Given the description of an element on the screen output the (x, y) to click on. 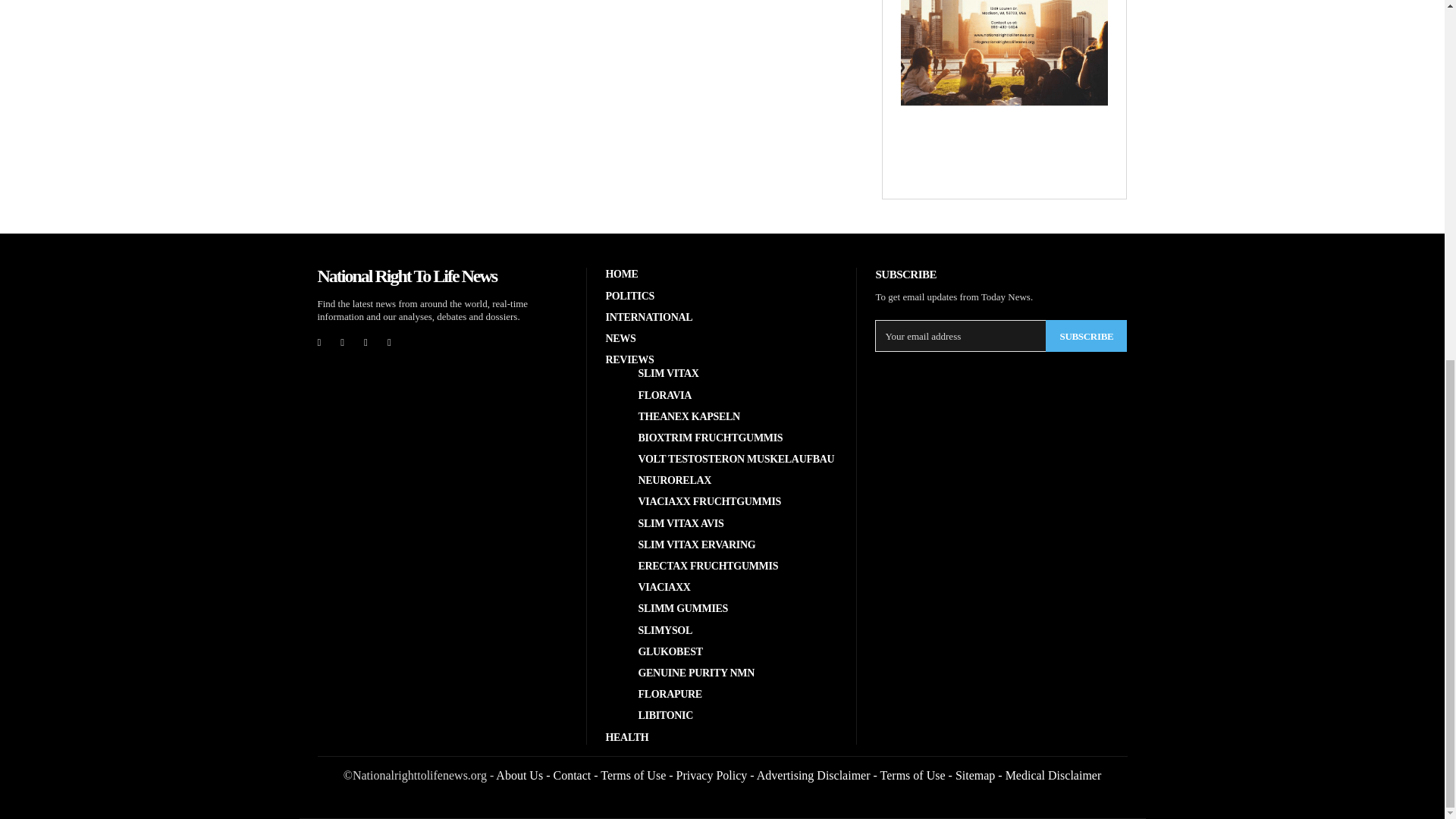
Instagram (342, 342)
TikTok (366, 342)
Twitter (389, 342)
Facebook (318, 342)
